Given the description of an element on the screen output the (x, y) to click on. 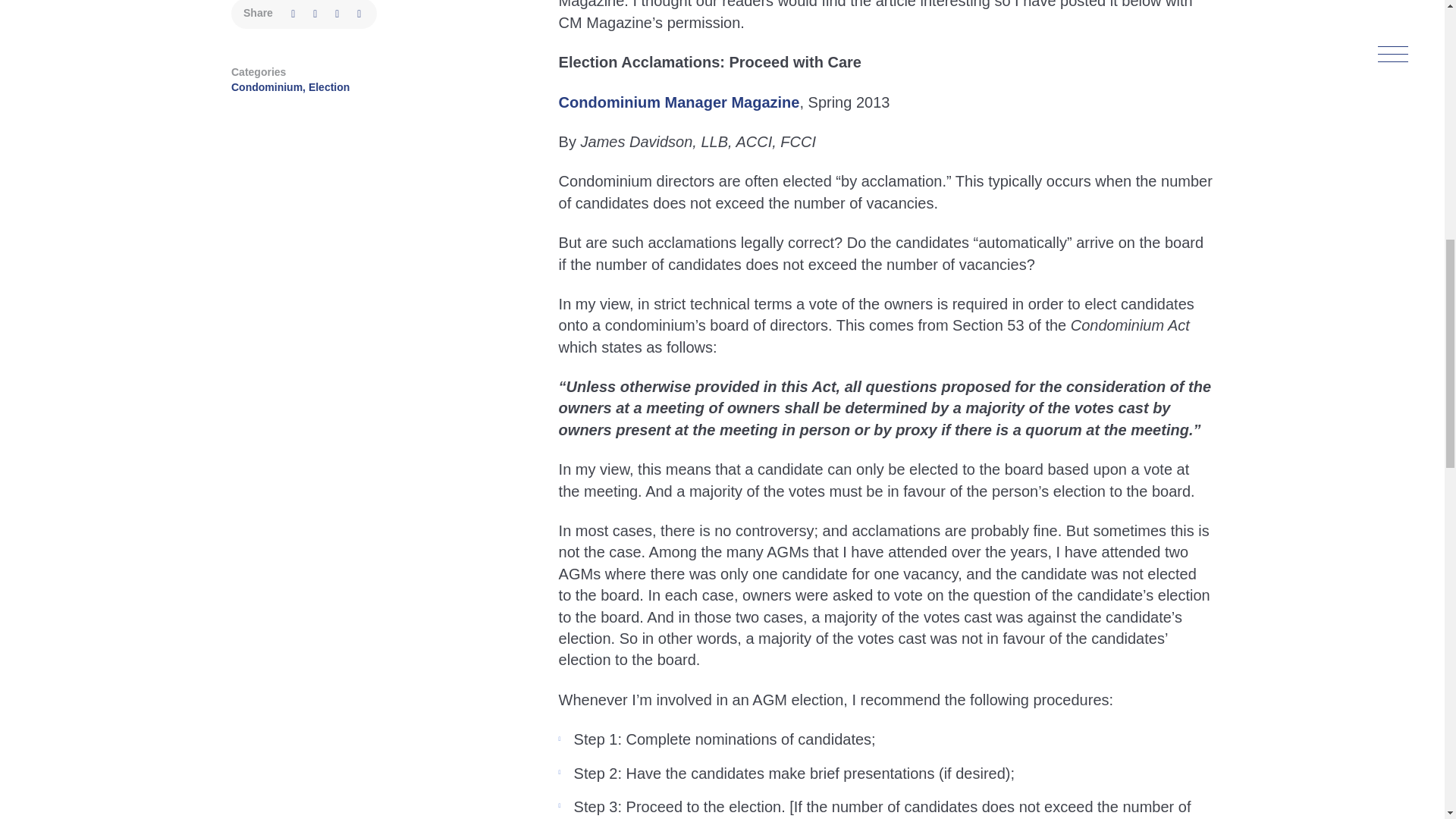
Condominium Manager Magazine (679, 102)
